Given the description of an element on the screen output the (x, y) to click on. 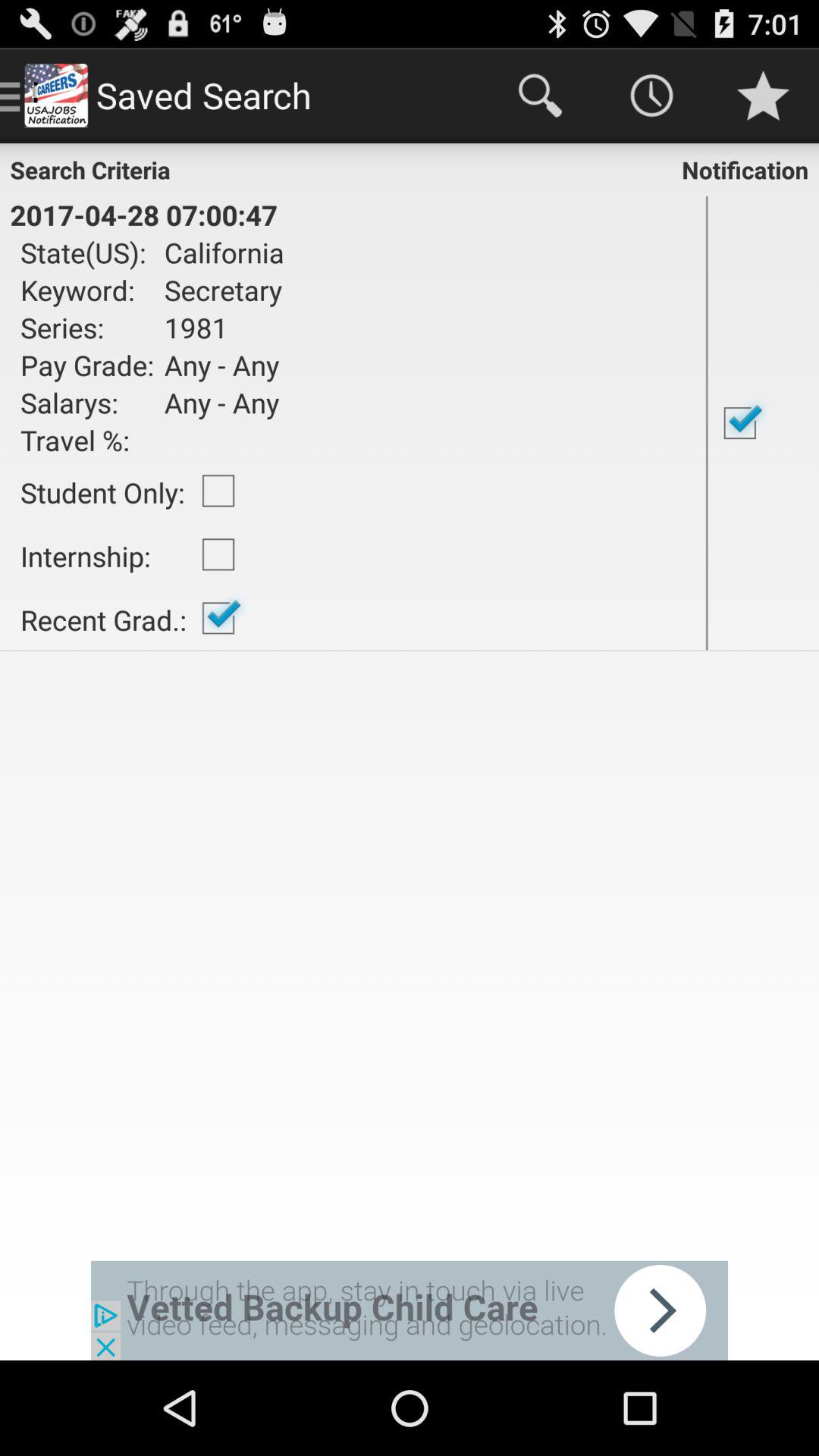
turn on app to the right of state(us): app (219, 252)
